Given the description of an element on the screen output the (x, y) to click on. 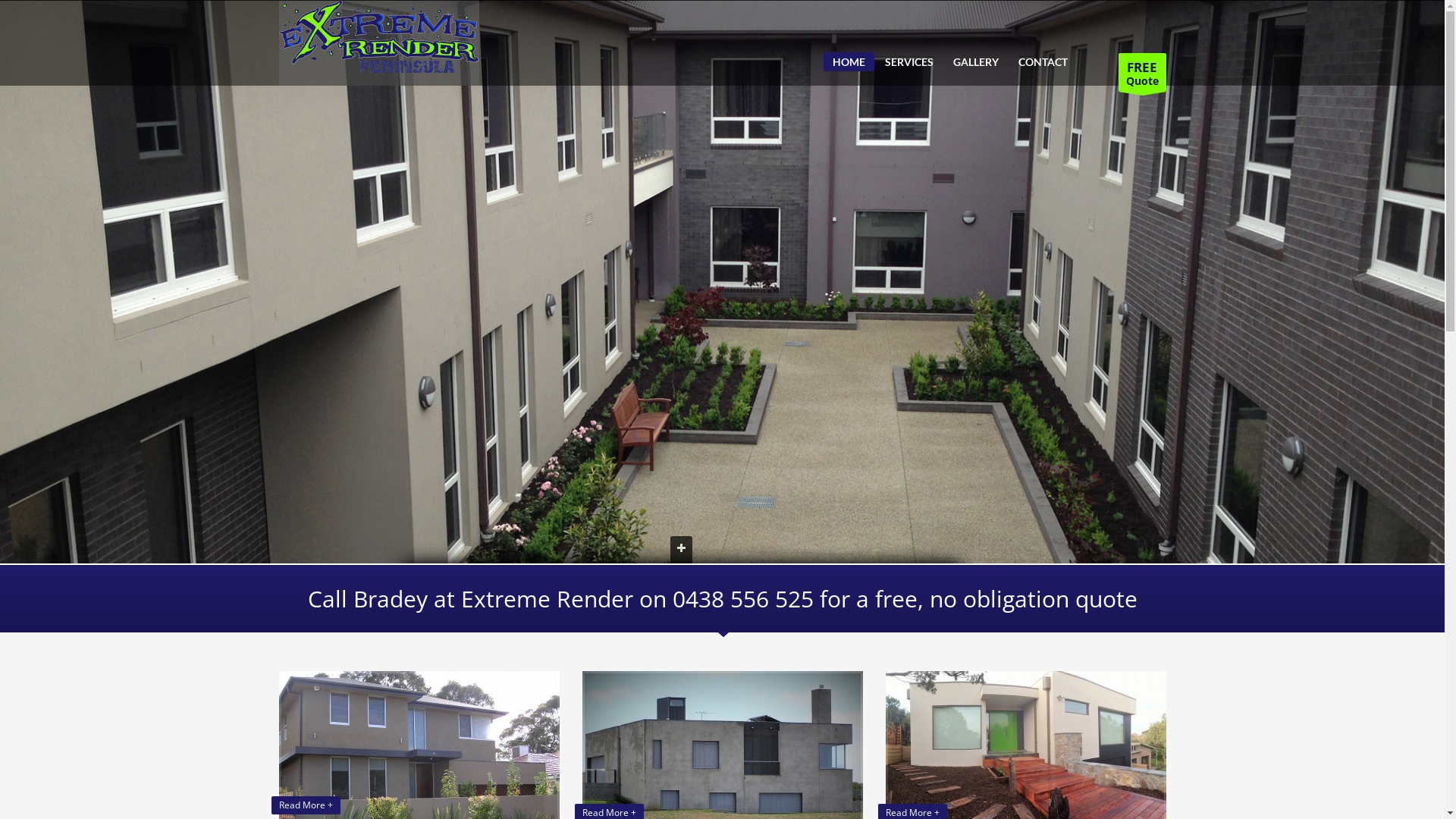
FREE
Quote Element type: text (1141, 72)
slide11 Element type: hover (722, 301)
GALLERY Element type: text (975, 61)
SERVICES Element type: text (908, 61)
RENDERING FRANKSTON, MORNINGTON PENINSULA, RYE & SORRENTO Element type: hover (379, 42)
CONTACT Element type: text (1042, 61)
HOME Element type: text (848, 61)
